Given the description of an element on the screen output the (x, y) to click on. 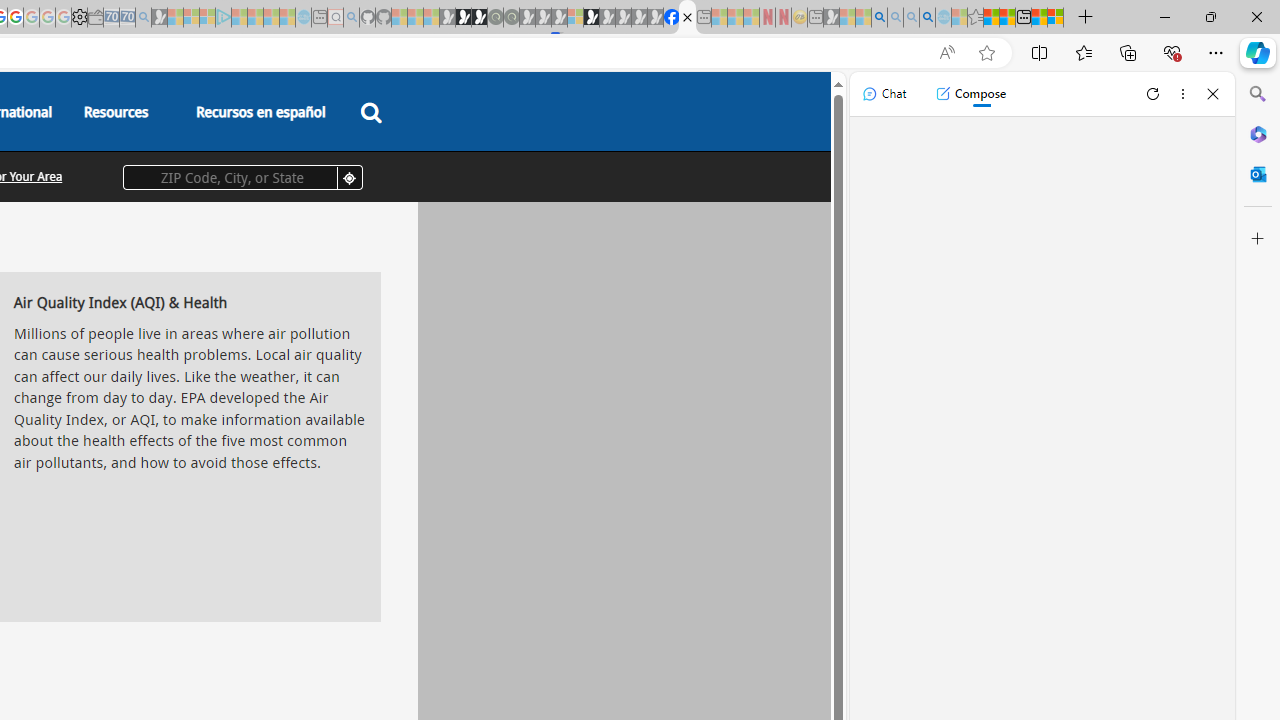
Play Zoo Boom in your browser | Games from Microsoft Start (463, 17)
Chat (884, 93)
AQI & Health | AirNow.gov (687, 17)
Nordace | Facebook (671, 17)
